Given the description of an element on the screen output the (x, y) to click on. 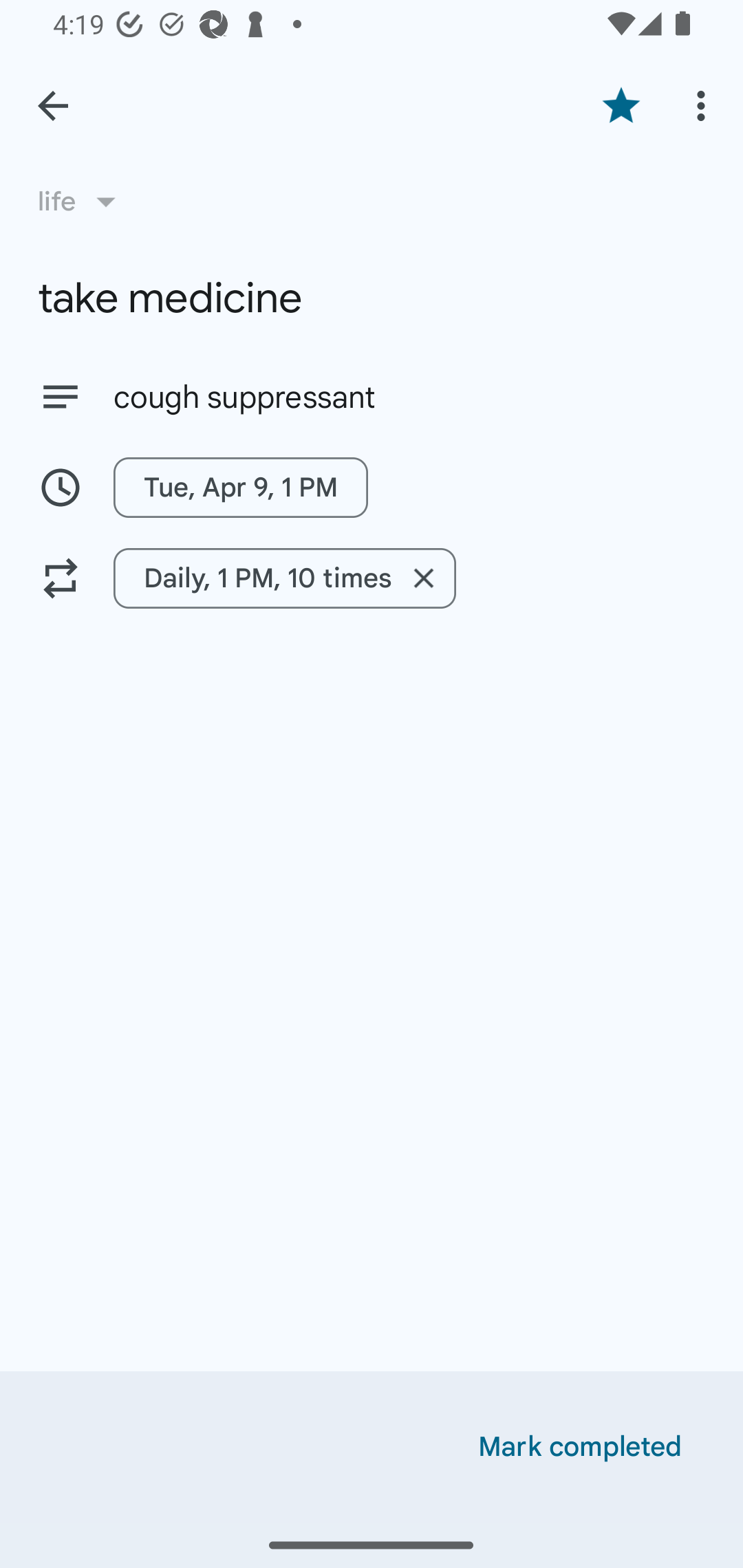
Back (53, 105)
Remove star (620, 105)
More options (704, 105)
life List, life selected, 1 of 23 (82, 201)
take medicine (371, 298)
cough suppressant (371, 396)
cough suppressant (409, 397)
Tue, Apr 9, 1 PM (371, 487)
Tue, Apr 9, 1 PM (240, 487)
Daily, 1 PM, 10 times End repeating (371, 578)
Daily, 1 PM, 10 times End repeating (284, 578)
Mark completed (580, 1446)
